Given the description of an element on the screen output the (x, y) to click on. 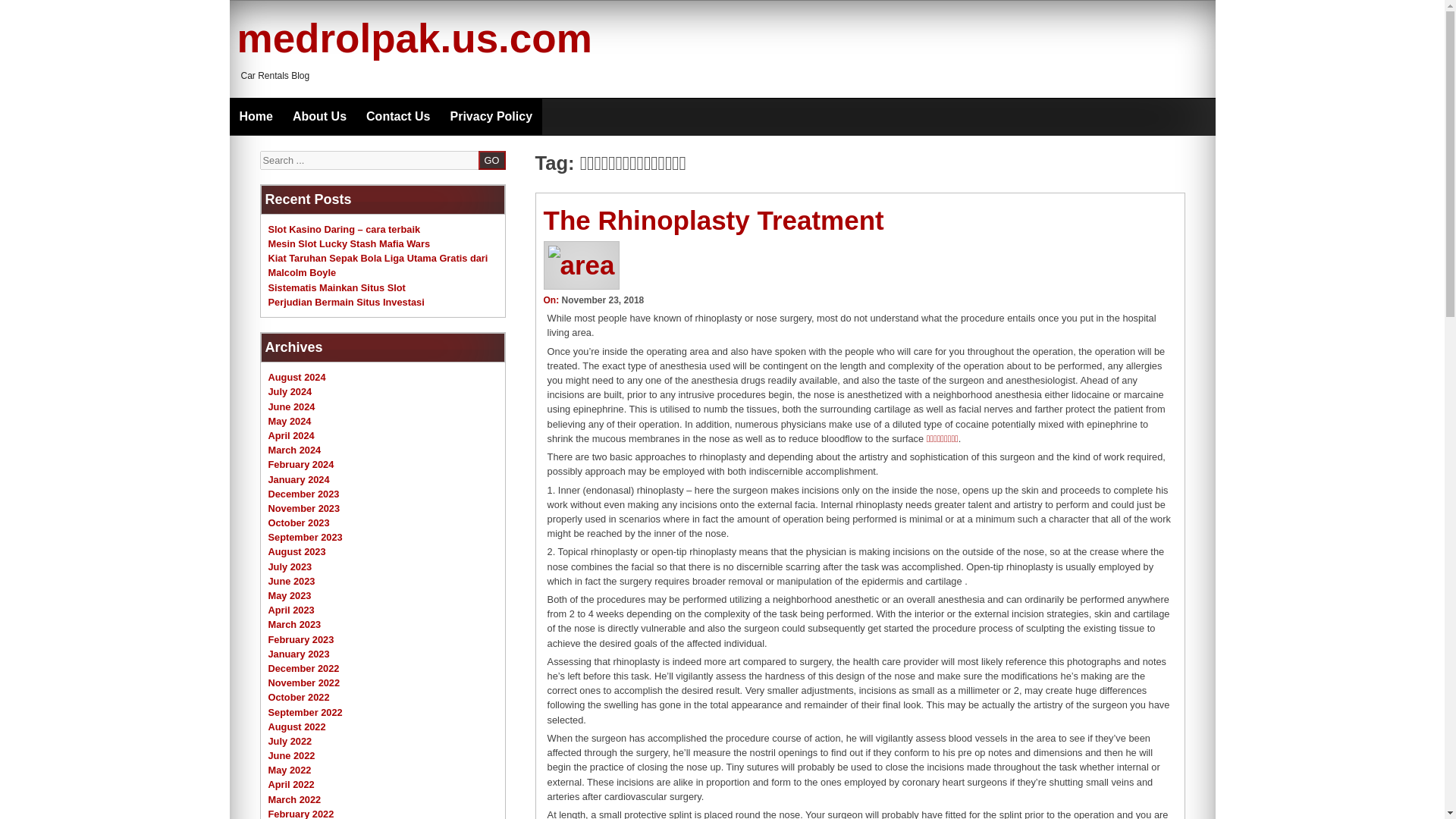
Perjudian Bermain Situs Investasi (346, 301)
medrolpak.us.com (413, 37)
January 2024 (298, 478)
Contact Us (397, 116)
May 2024 (289, 420)
April 2024 (290, 435)
GO (492, 158)
The Rhinoplasty Treatment (713, 220)
February 2024 (300, 464)
July 2024 (290, 391)
June 2024 (291, 406)
About Us (319, 116)
Kiat Taruhan Sepak Bola Liga Utama Gratis dari Malcolm Boyle (377, 265)
Mesin Slot Lucky Stash Mafia Wars (348, 243)
GO (492, 158)
